Given the description of an element on the screen output the (x, y) to click on. 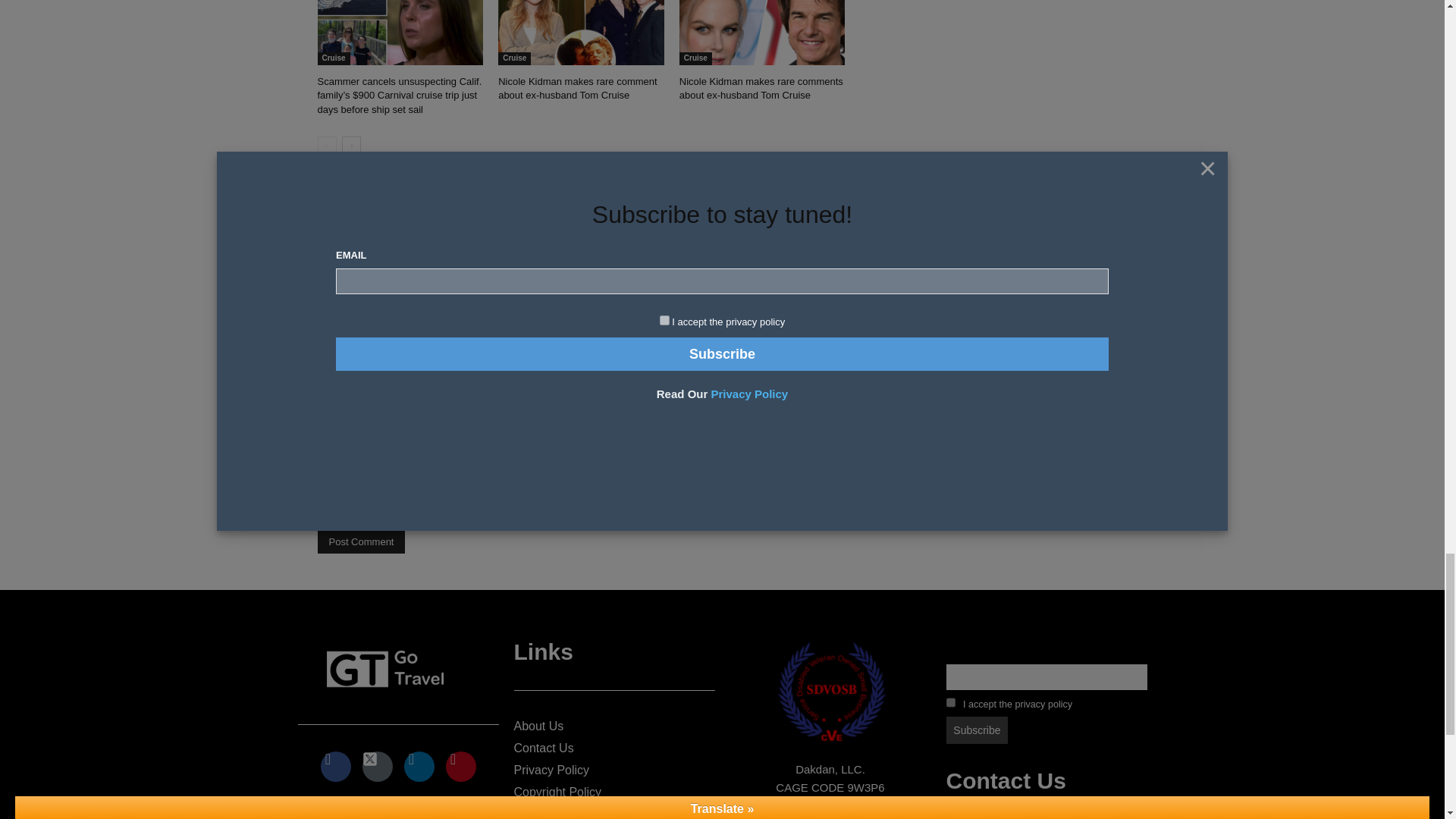
on (951, 702)
Subscribe (977, 729)
yes (321, 506)
Post Comment (360, 541)
